Given the description of an element on the screen output the (x, y) to click on. 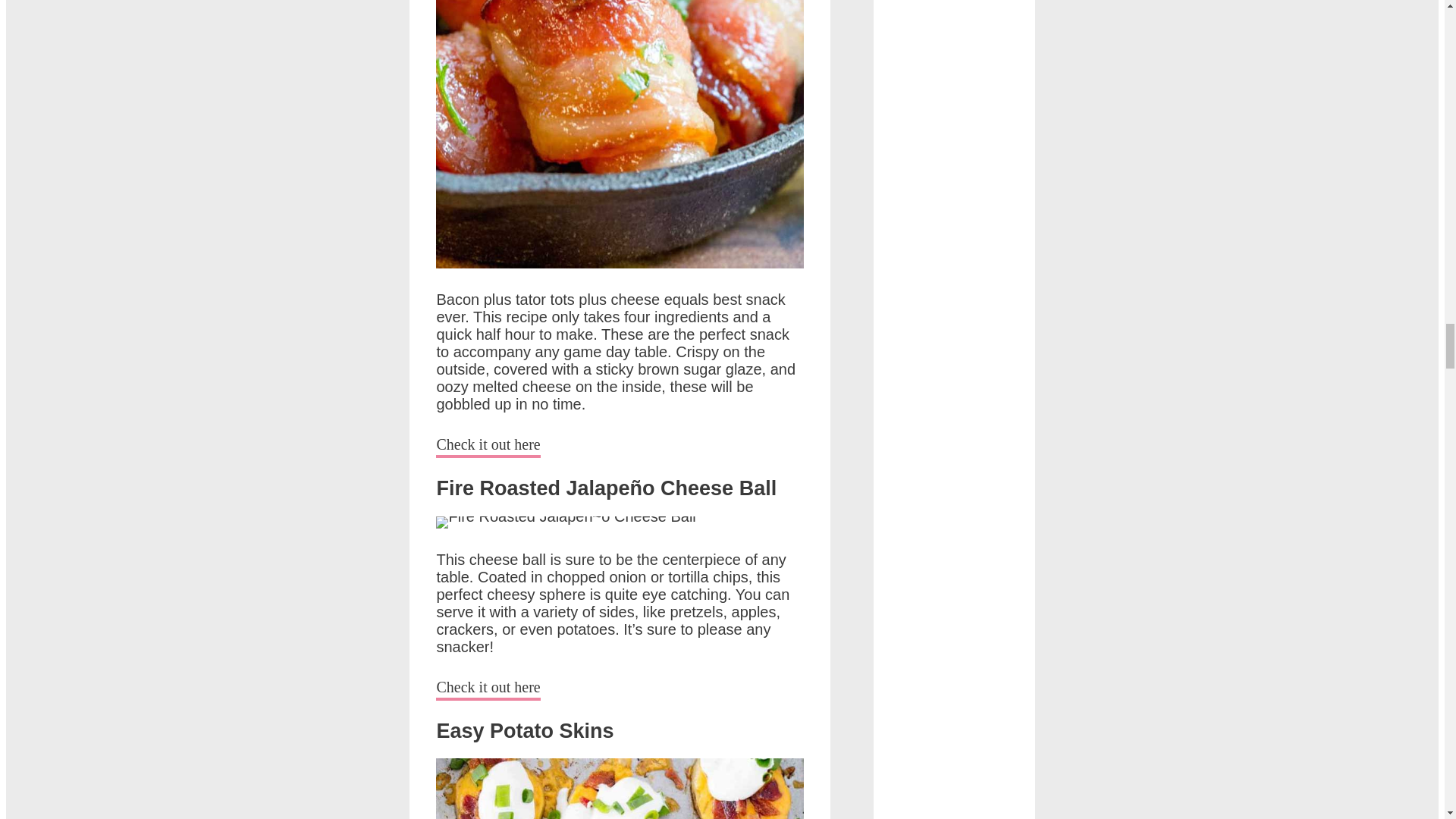
Check it out here (487, 689)
Check it out here (487, 446)
